Given the description of an element on the screen output the (x, y) to click on. 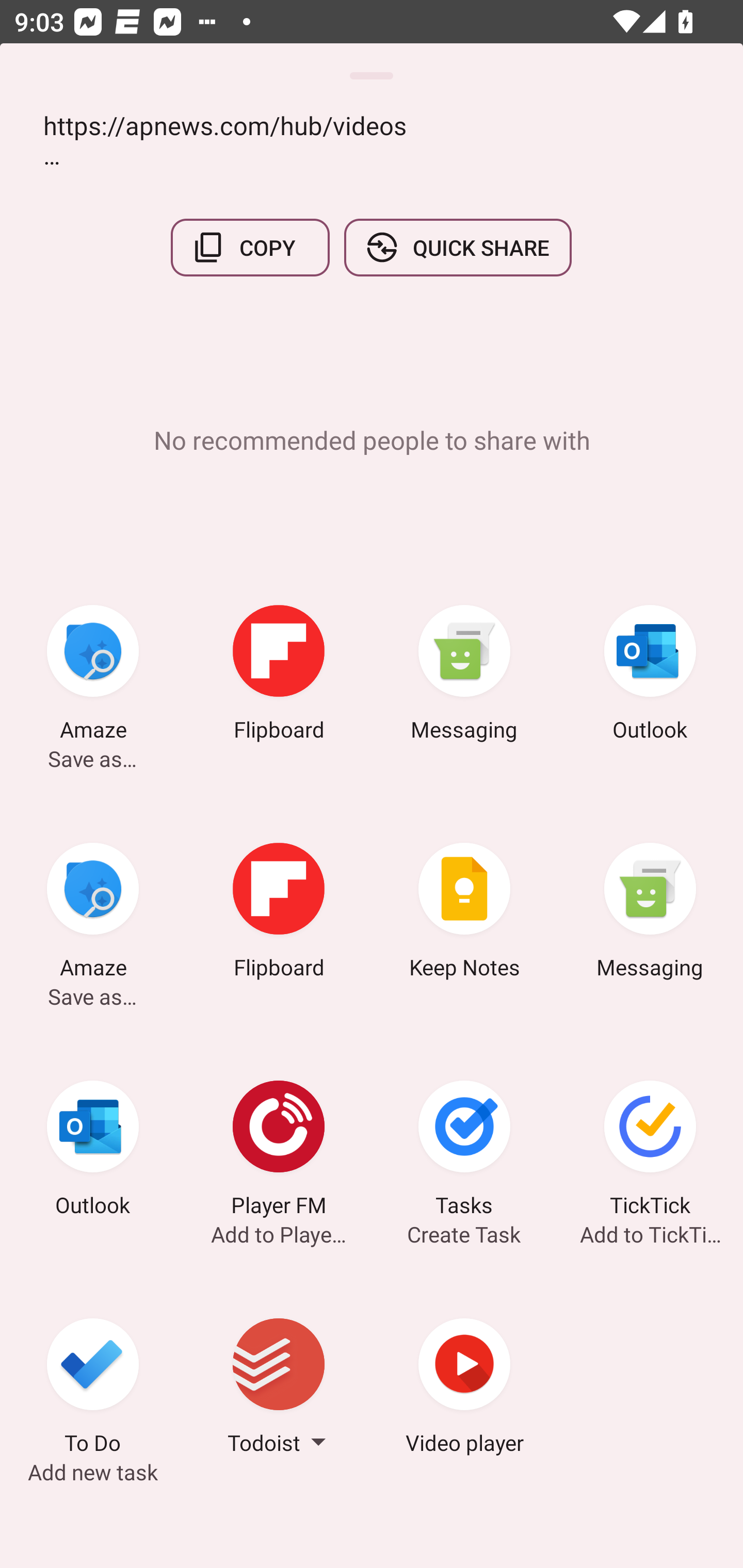
COPY (249, 247)
QUICK SHARE (457, 247)
Amaze Save as… (92, 675)
Flipboard (278, 675)
Messaging (464, 675)
Outlook (650, 675)
Amaze Save as… (92, 913)
Flipboard (278, 913)
Keep Notes (464, 913)
Messaging (650, 913)
Outlook (92, 1151)
Player FM Add to Player FM (278, 1151)
Tasks Create Task (464, 1151)
TickTick Add to TickTick (650, 1151)
To Do Add new task (92, 1389)
Todoist (278, 1389)
Video player (464, 1389)
